Given the description of an element on the screen output the (x, y) to click on. 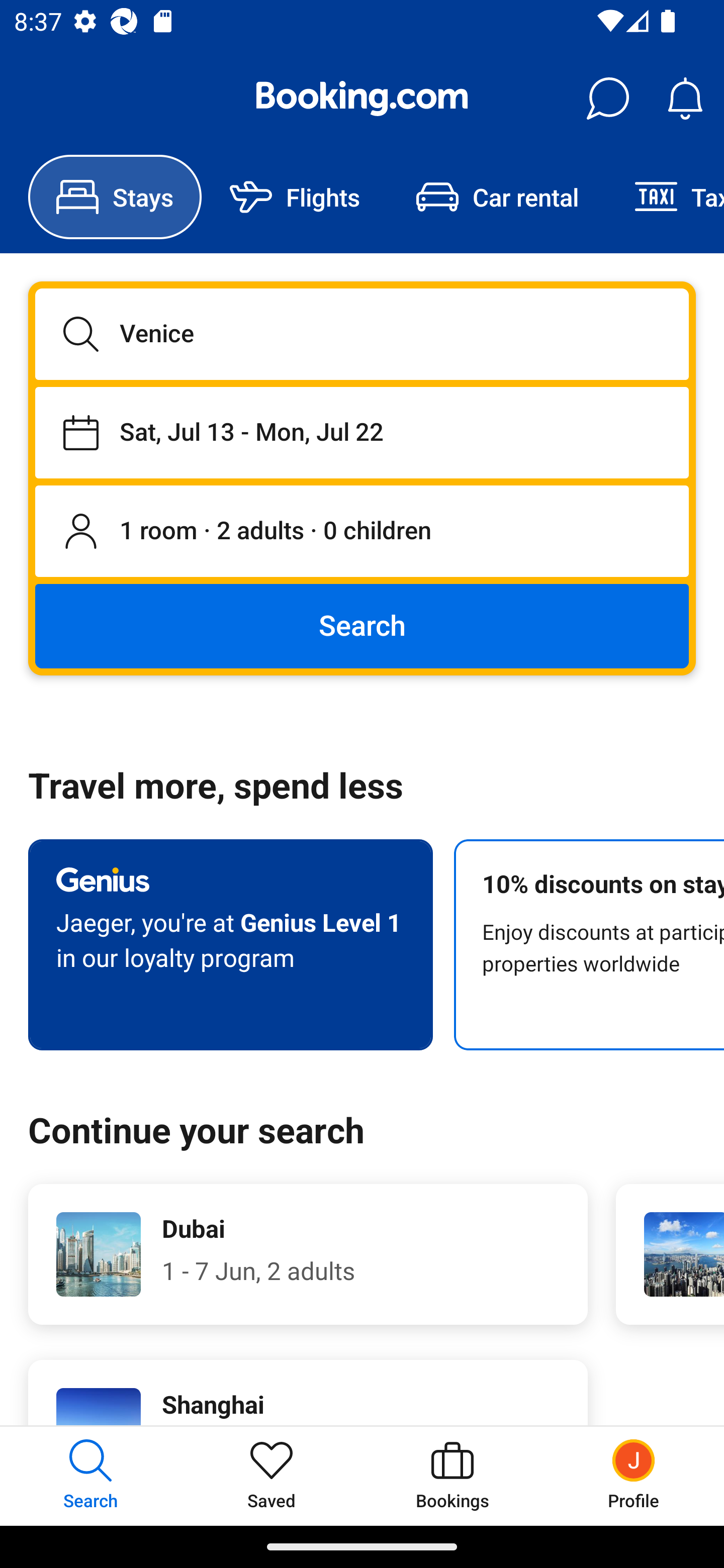
Messages (607, 98)
Notifications (685, 98)
Stays (114, 197)
Flights (294, 197)
Car rental (497, 197)
Taxi (665, 197)
Venice (361, 333)
Staying from Sat, Jul 13 until Mon, Jul 22 (361, 432)
1 room, 2 adults, 0 children (361, 531)
Search (361, 625)
Dubai 1 - 7 Jun, 2 adults (307, 1253)
Saved (271, 1475)
Bookings (452, 1475)
Profile (633, 1475)
